Given the description of an element on the screen output the (x, y) to click on. 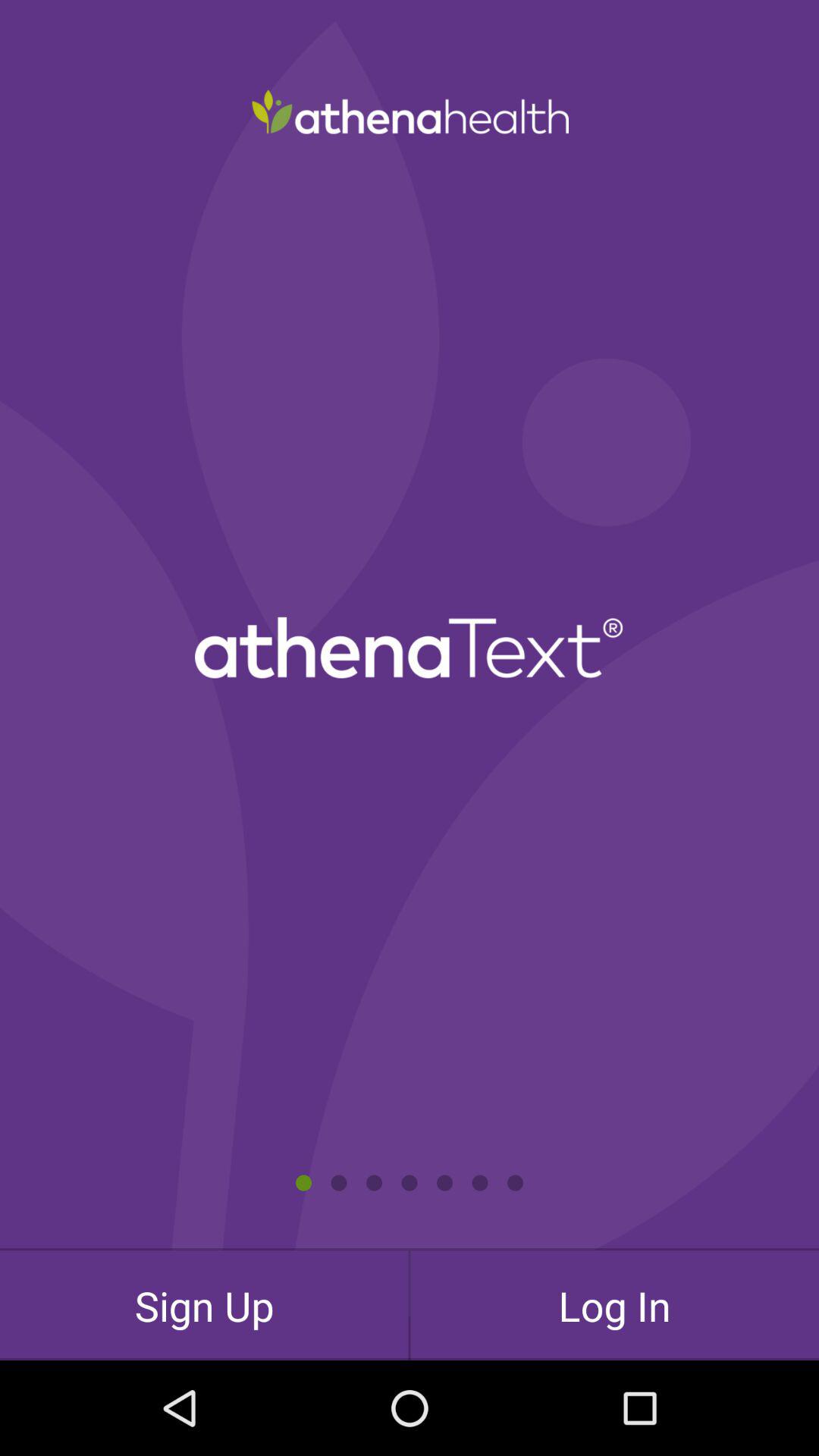
tap log in at the bottom right corner (614, 1305)
